Given the description of an element on the screen output the (x, y) to click on. 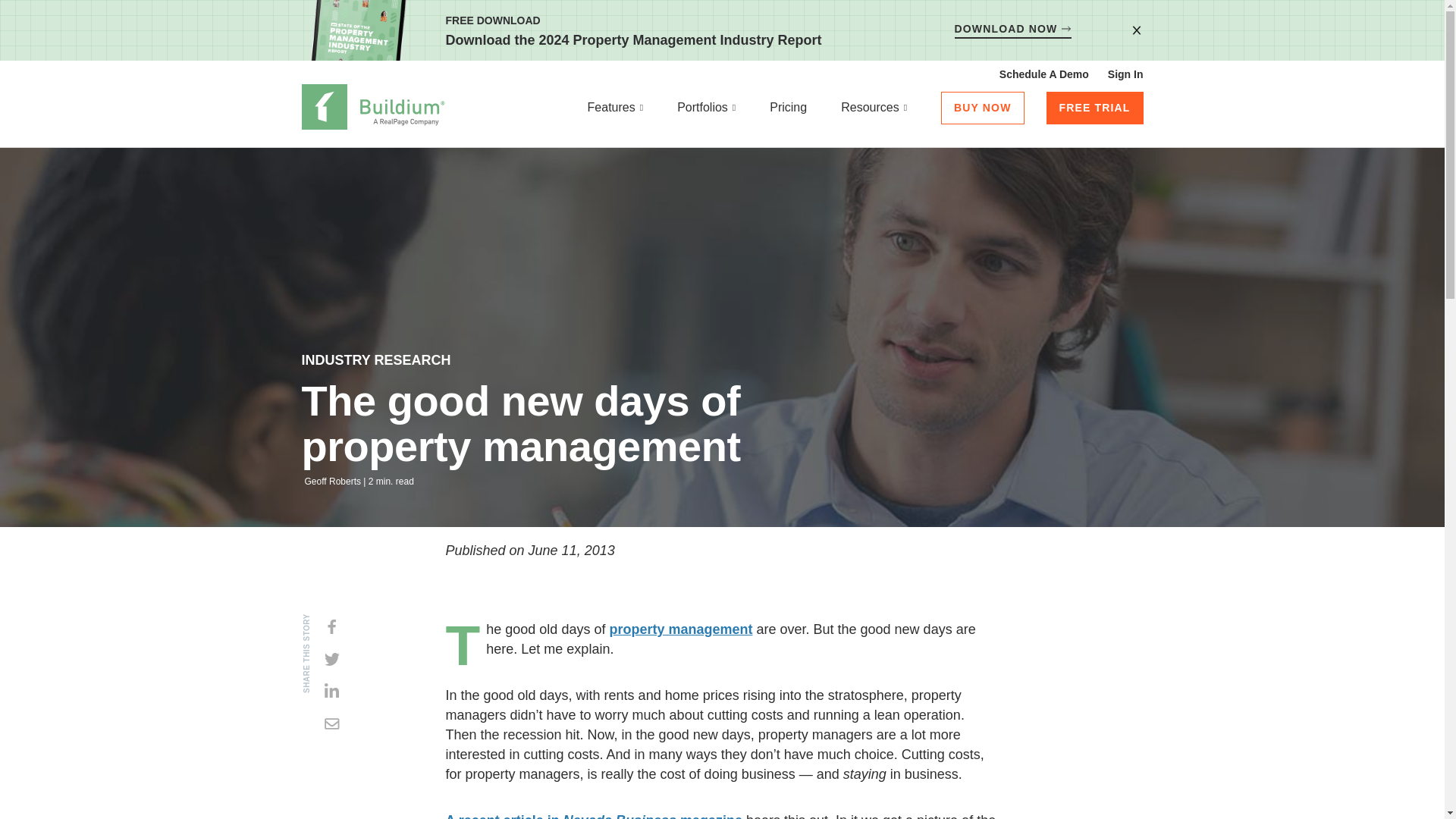
DOWNLOAD NOW (1013, 30)
Features (615, 109)
Portfolios (706, 109)
Schedule A Demo (1043, 74)
Buildium Homepage (373, 109)
Sign In (1125, 74)
